Given the description of an element on the screen output the (x, y) to click on. 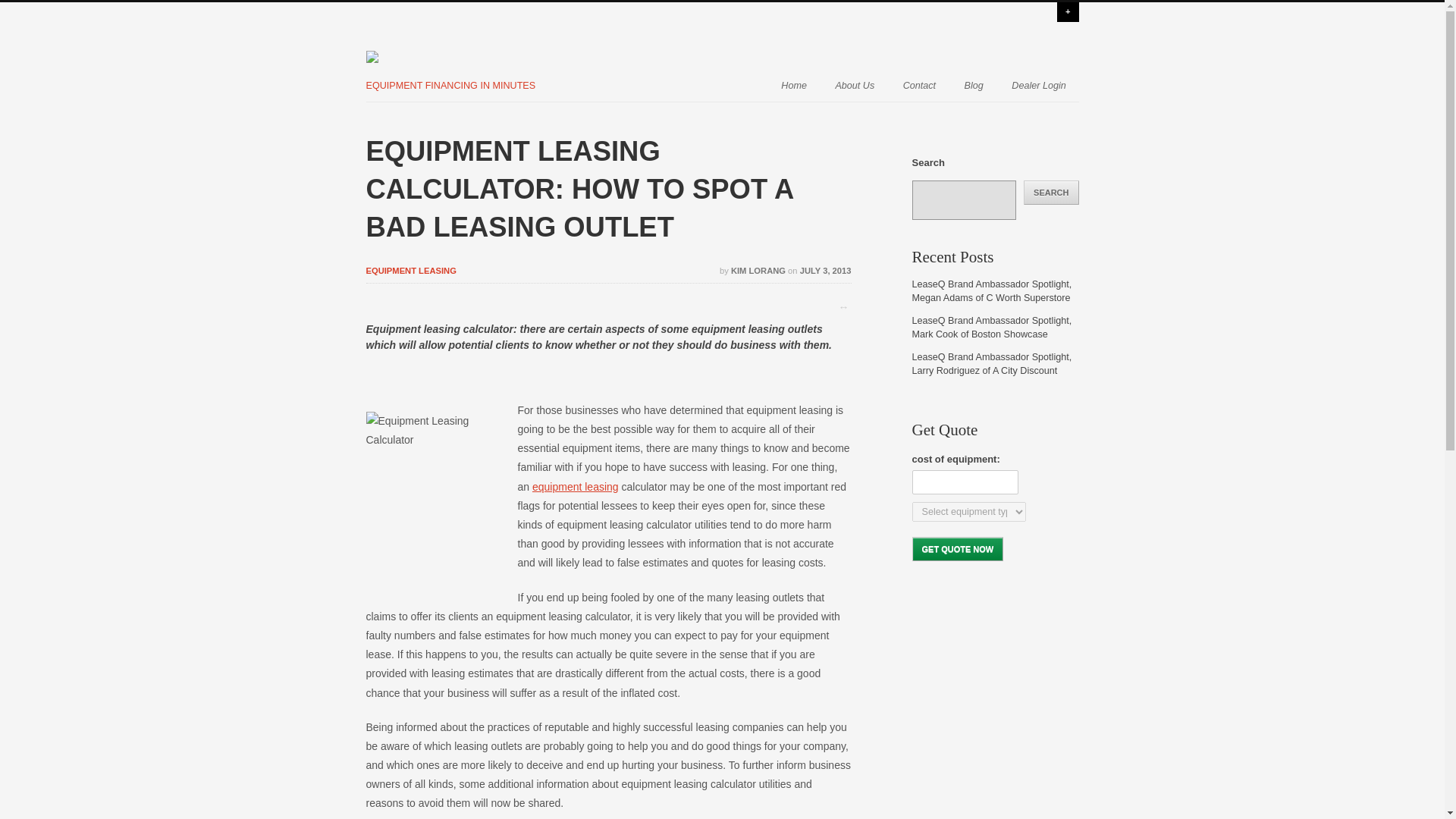
Contact (919, 83)
Home (793, 83)
View all posts by Kim Lorang (758, 270)
KIM LORANG (758, 270)
Skip to content (643, 84)
SEARCH (1050, 192)
Get Quote Now (957, 549)
About Us (854, 83)
5:22 pm (825, 270)
JULY 3, 2013 (825, 270)
equipment leasing (575, 486)
Dealer Login (1038, 83)
Blog (973, 83)
